Given the description of an element on the screen output the (x, y) to click on. 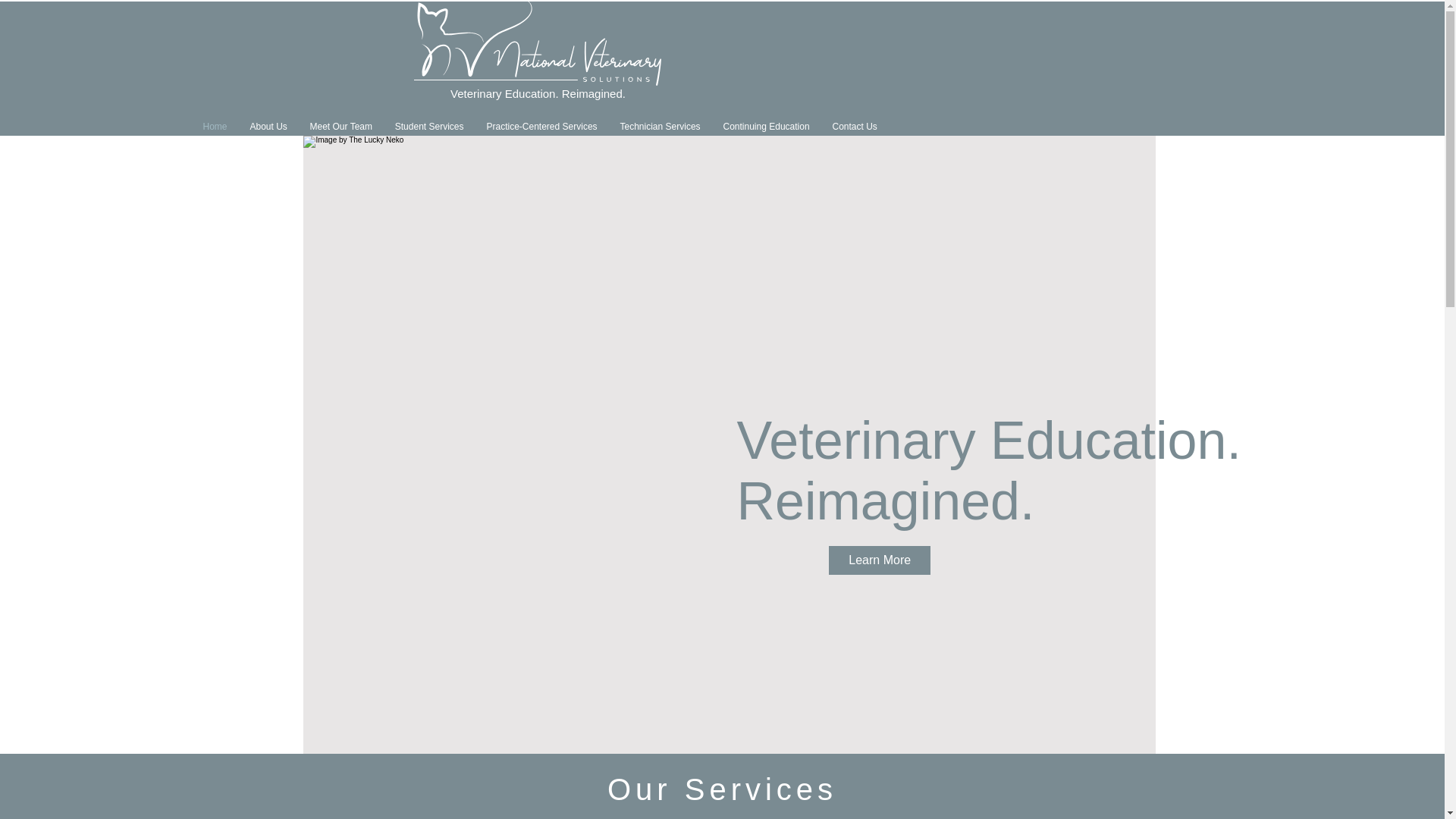
Student Services (430, 126)
Meet Our Team (341, 126)
Technician Services (659, 126)
Learn More (879, 560)
Continuing Education (766, 126)
About Us (268, 126)
Home (214, 126)
Practice-Centered Services (541, 126)
Contact Us (854, 126)
